Given the description of an element on the screen output the (x, y) to click on. 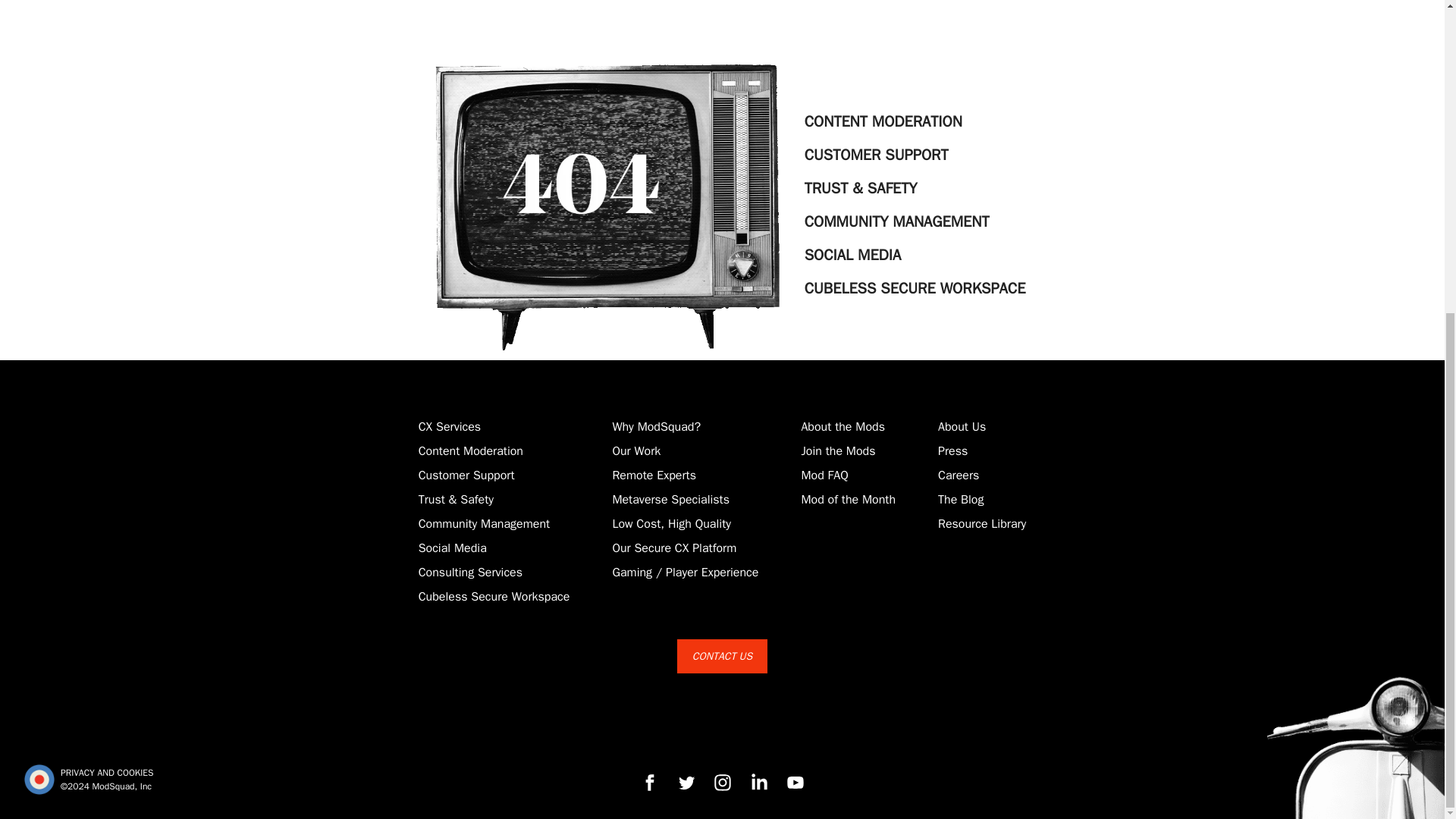
Cubeless Secure Workspace (494, 596)
Mod of the Month (847, 499)
Careers (957, 475)
CUBELESS SECURE WORKSPACE (914, 288)
Our Work (636, 450)
Social Media (452, 548)
Customer Support (467, 475)
About Us (961, 426)
Consulting Services (470, 572)
CONTENT MODERATION (914, 121)
